Given the description of an element on the screen output the (x, y) to click on. 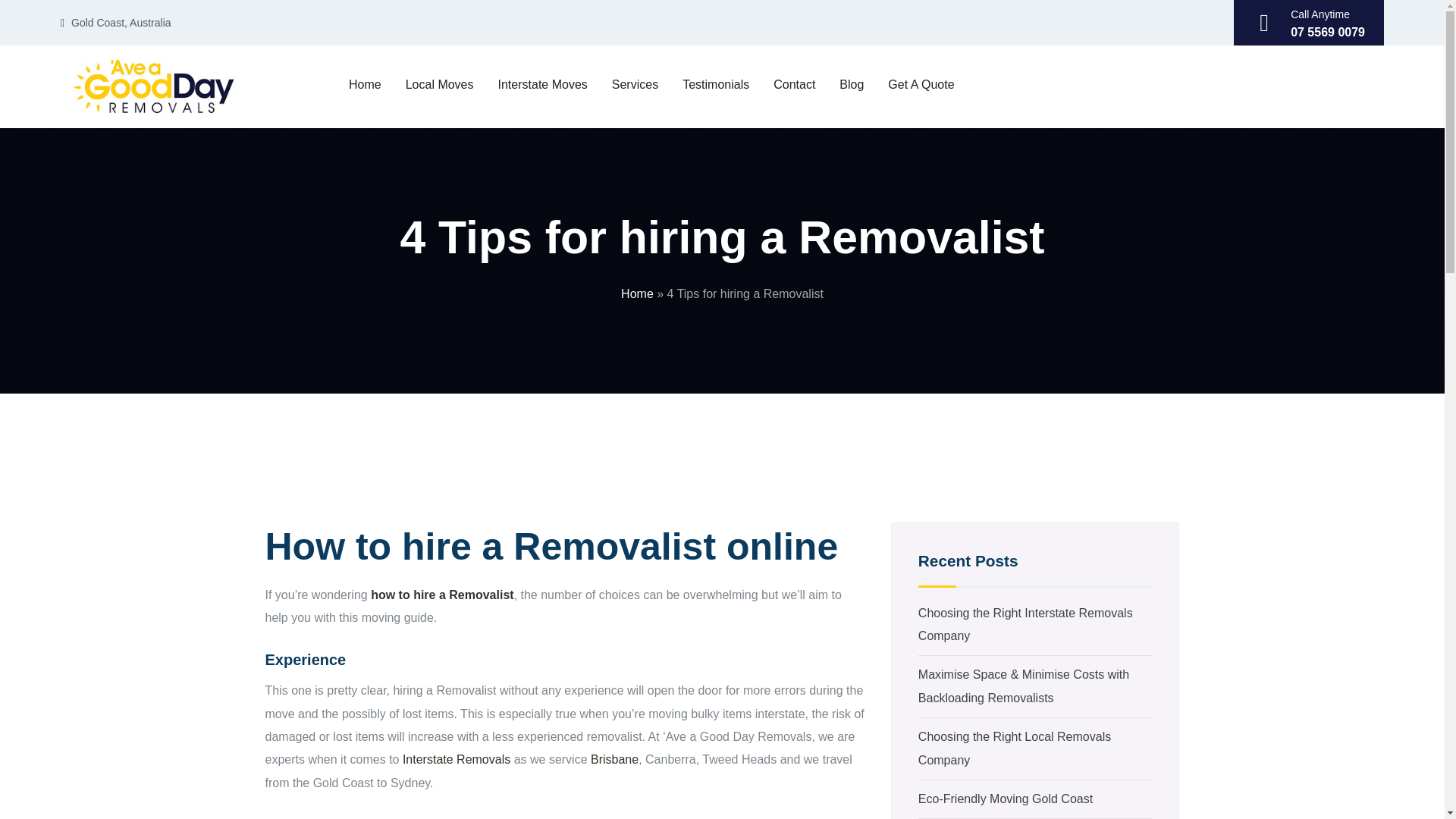
Local Moves (439, 84)
Interstate Moves (542, 84)
Testimonials (715, 84)
Interstate Moves (542, 84)
Contact (794, 84)
Blog (851, 84)
Services (634, 84)
07 5569 0079 (1327, 31)
Home (364, 84)
Local Moves (439, 84)
